Given the description of an element on the screen output the (x, y) to click on. 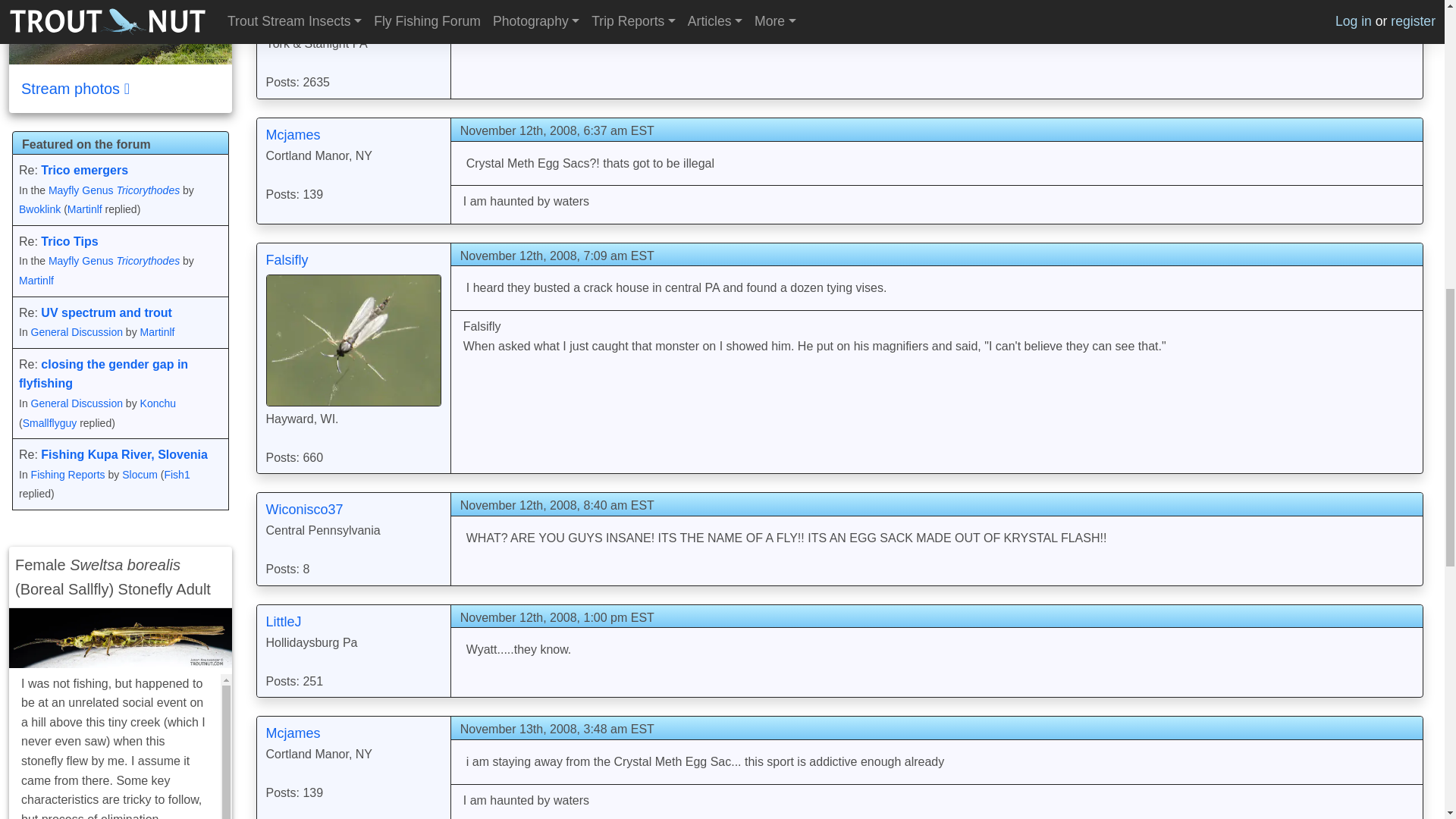
View Mcjames's Profile or Send Private Message (292, 134)
Slough Creek in Wyoming (119, 32)
Falsifly's profile picture (352, 340)
View Falsifly's Profile or Send Private Message (285, 259)
Wbranch's profile picture (352, 15)
